Given the description of an element on the screen output the (x, y) to click on. 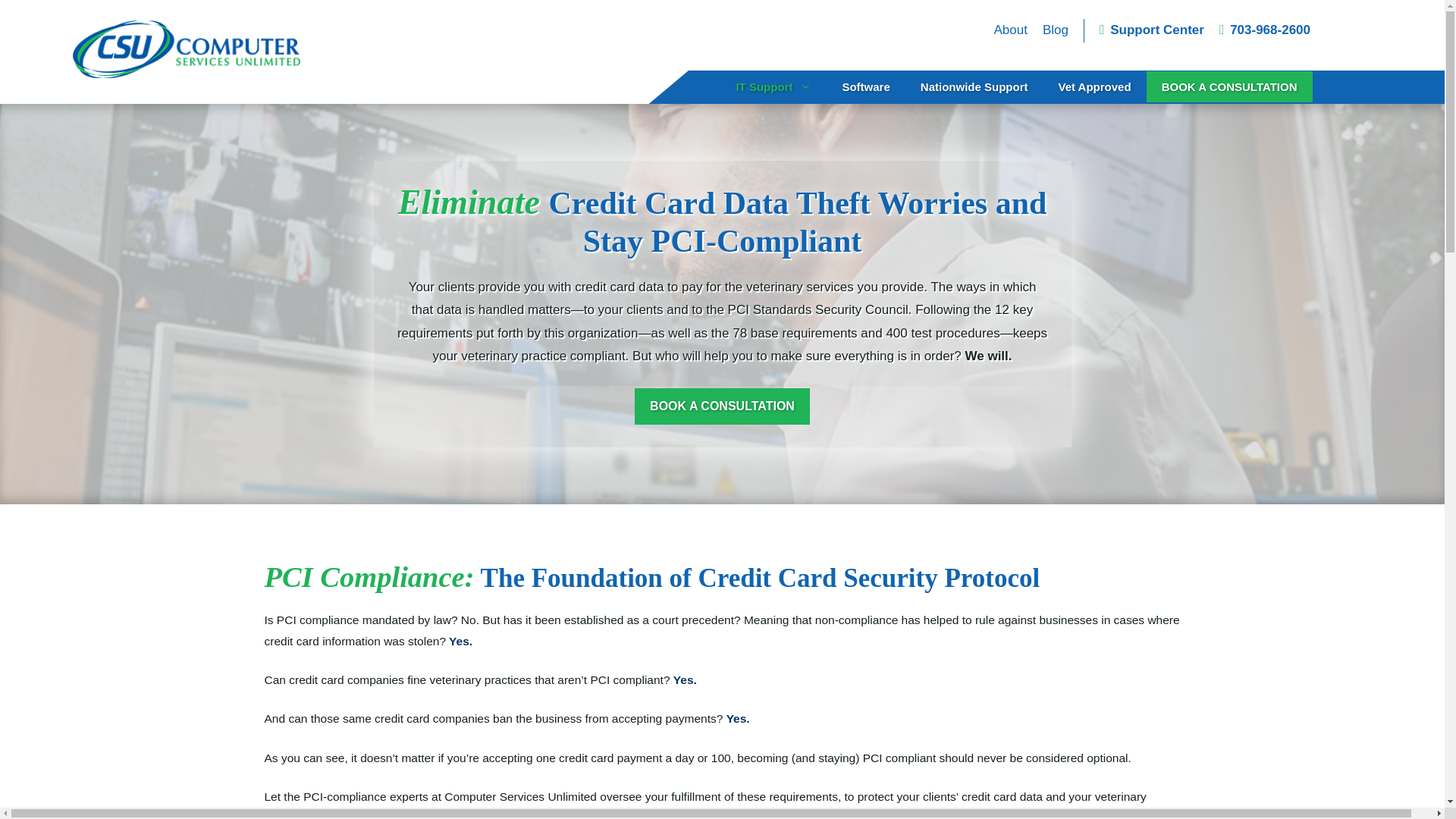
Vet Approved (1093, 87)
Blog (1055, 29)
703-968-2600 (1265, 29)
BOOK A CONSULTATION (1230, 86)
About (1009, 29)
Software (865, 87)
IT Support (773, 87)
BOOK A CONSULTATION (721, 406)
Nationwide Support (974, 87)
Support Center (1151, 29)
